Given the description of an element on the screen output the (x, y) to click on. 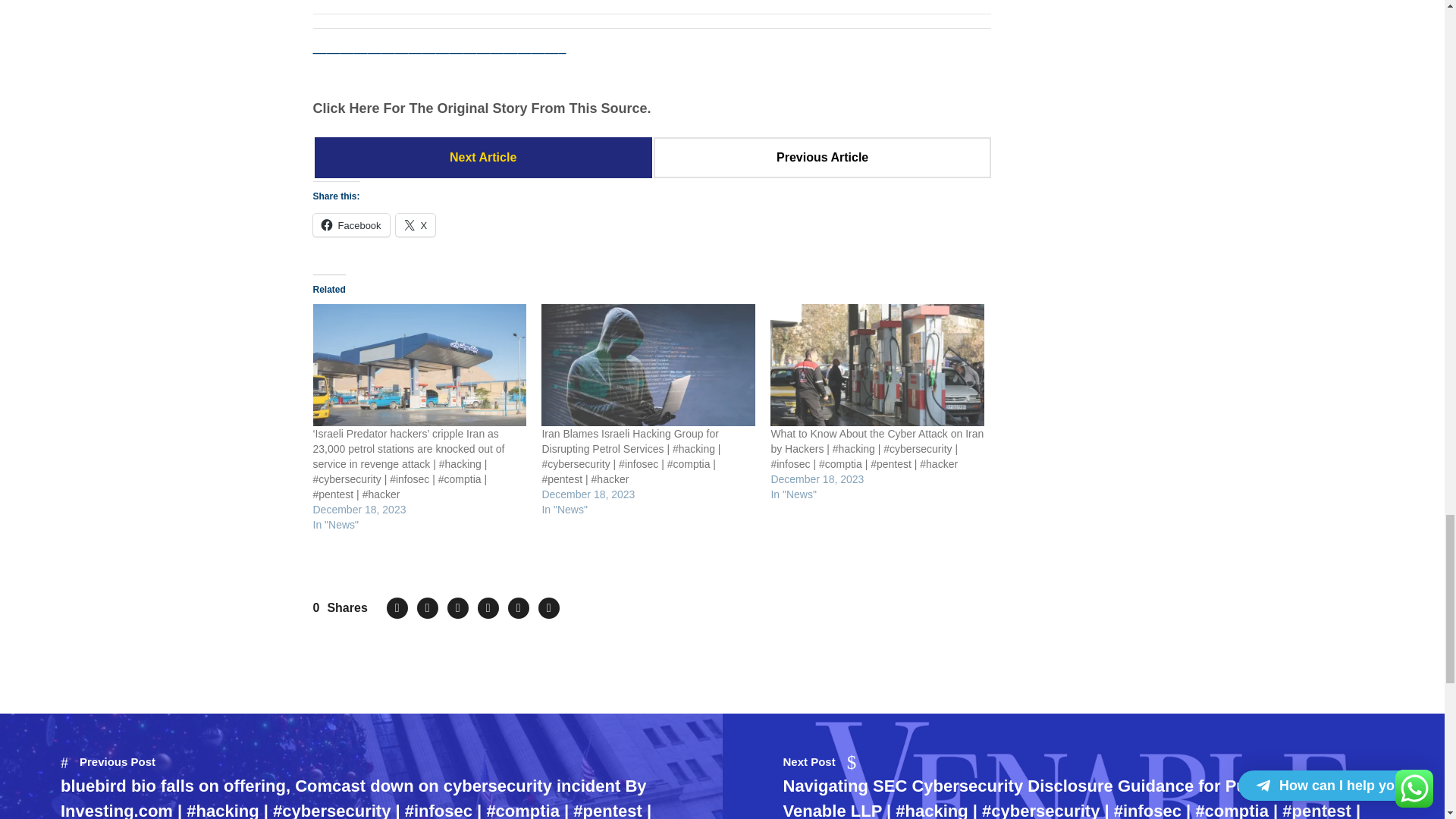
Click to share on X (415, 224)
Click to share on Facebook (350, 224)
